Given the description of an element on the screen output the (x, y) to click on. 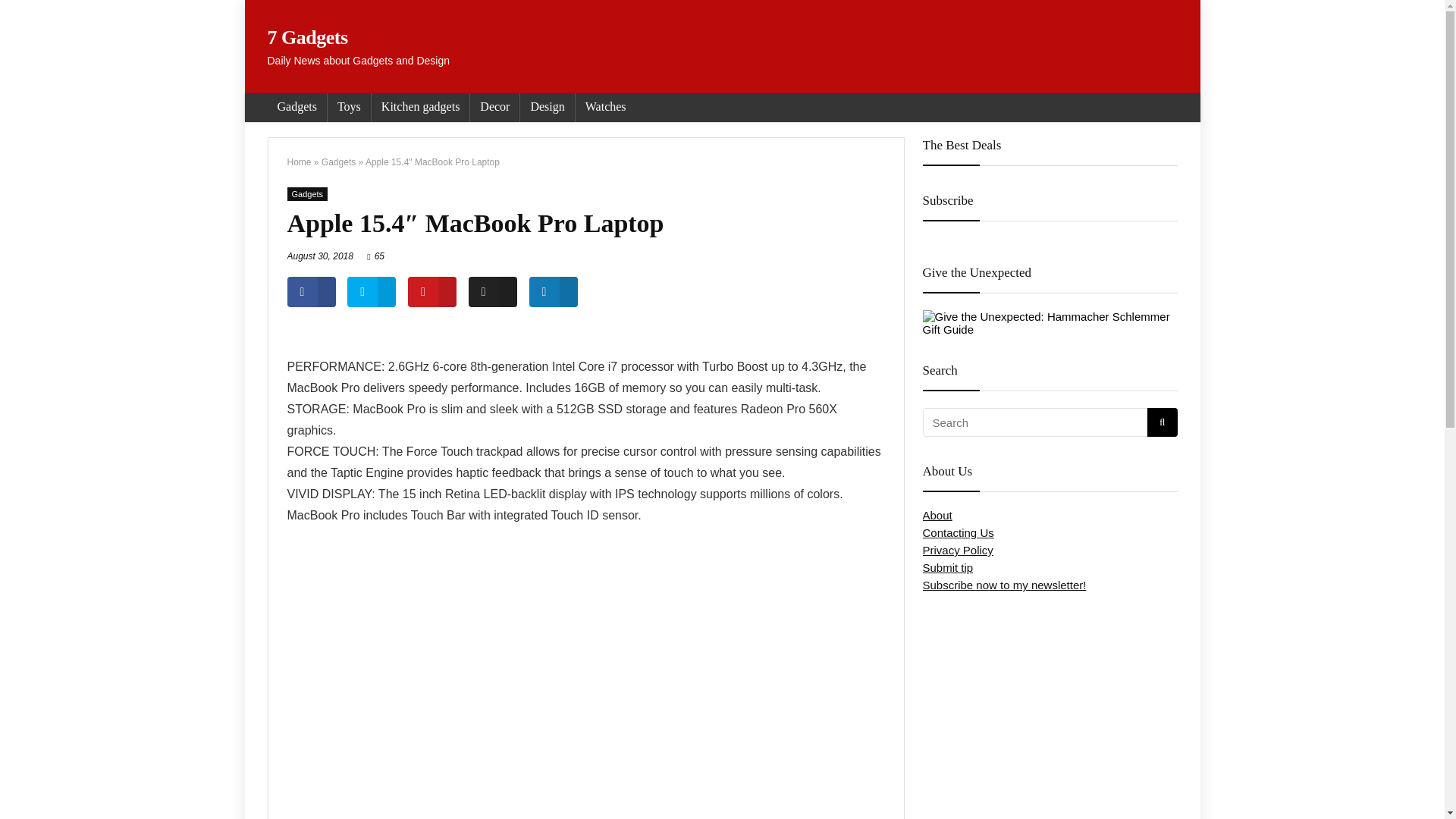
Decor (494, 107)
Contacting Us (956, 532)
Gadgets (306, 193)
Watches (605, 107)
About (936, 514)
Toys (349, 107)
View all posts in Gadgets (306, 193)
Home (298, 162)
Kitchen gadgets (420, 107)
Privacy Policy (956, 549)
Gadgets (338, 162)
Gadgets (296, 107)
Design (546, 107)
